Given the description of an element on the screen output the (x, y) to click on. 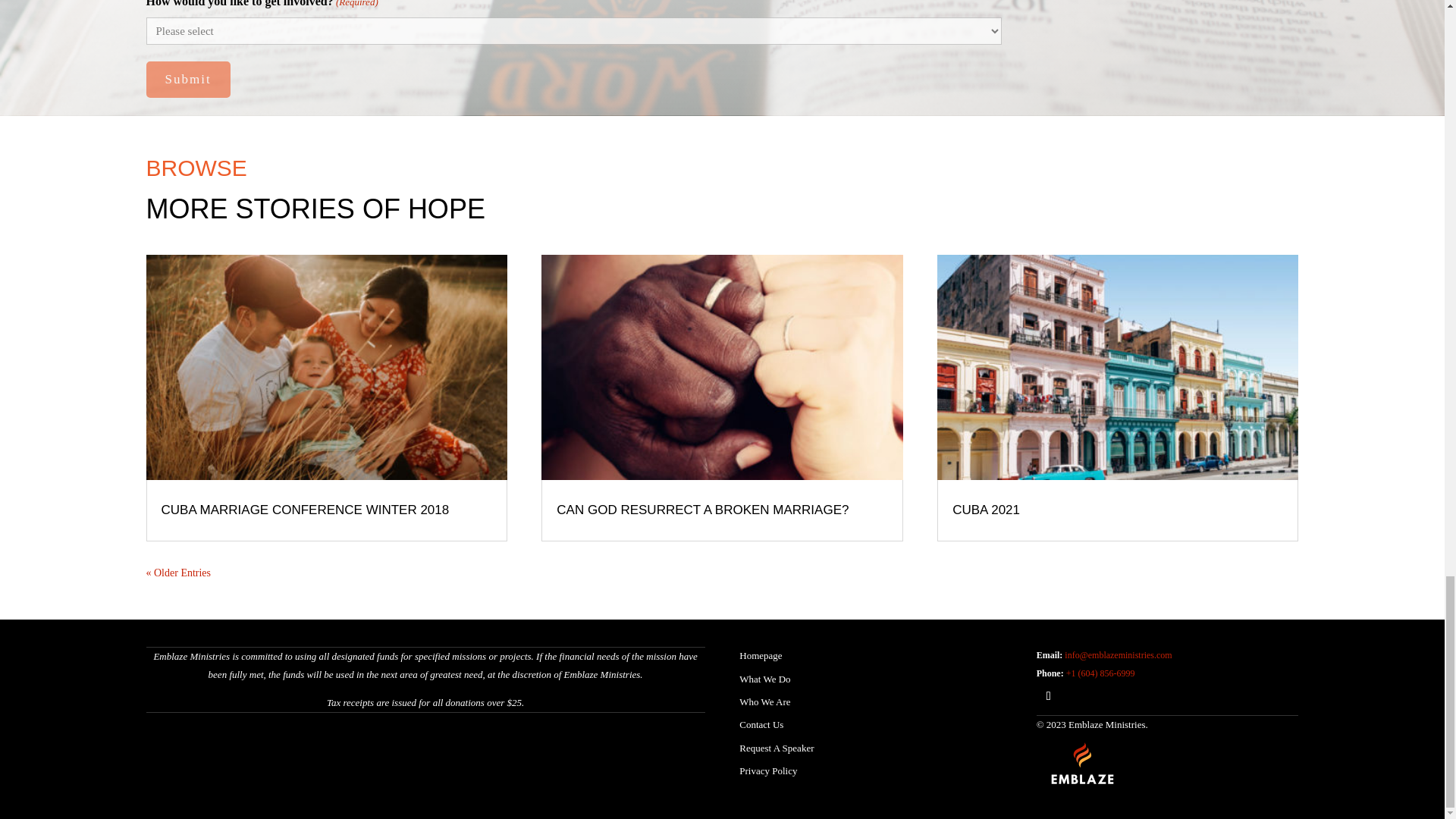
What We Do (764, 678)
Privacy Policy (767, 770)
Emblaze Logo - Word and Icon - Inverted Color (1082, 762)
CUBA 2021 (986, 509)
Who We Are (764, 701)
CUBA MARRIAGE CONFERENCE WINTER 2018 (304, 509)
Request A Speaker (776, 747)
Contact Us (761, 724)
Submit (187, 79)
CAN GOD RESURRECT A BROKEN MARRIAGE? (702, 509)
Homepage (760, 655)
Follow on Facebook (1048, 695)
Submit (187, 79)
